Given the description of an element on the screen output the (x, y) to click on. 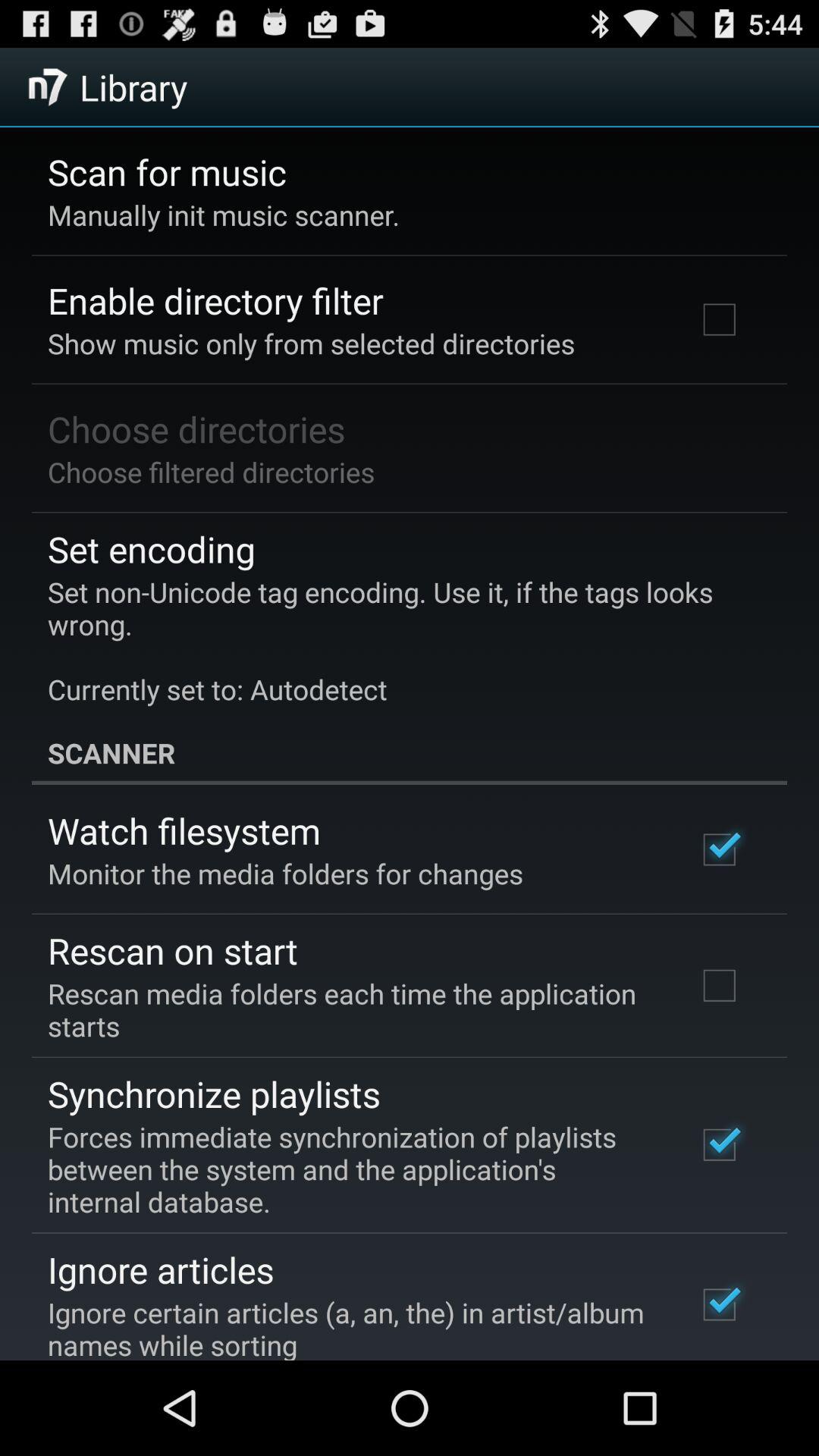
select app below the scanner item (183, 830)
